Given the description of an element on the screen output the (x, y) to click on. 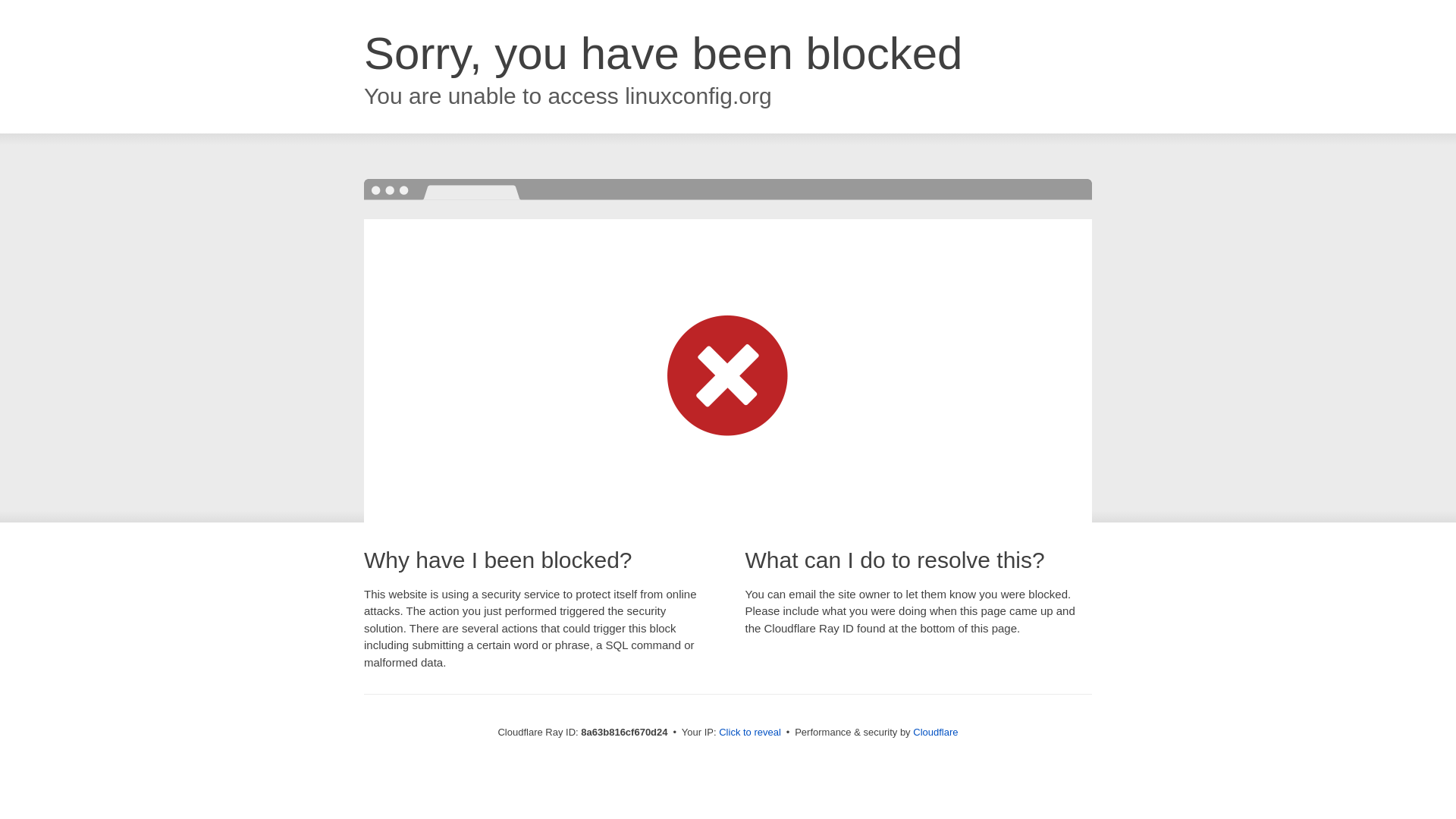
Click to reveal (749, 732)
Cloudflare (935, 731)
